Given the description of an element on the screen output the (x, y) to click on. 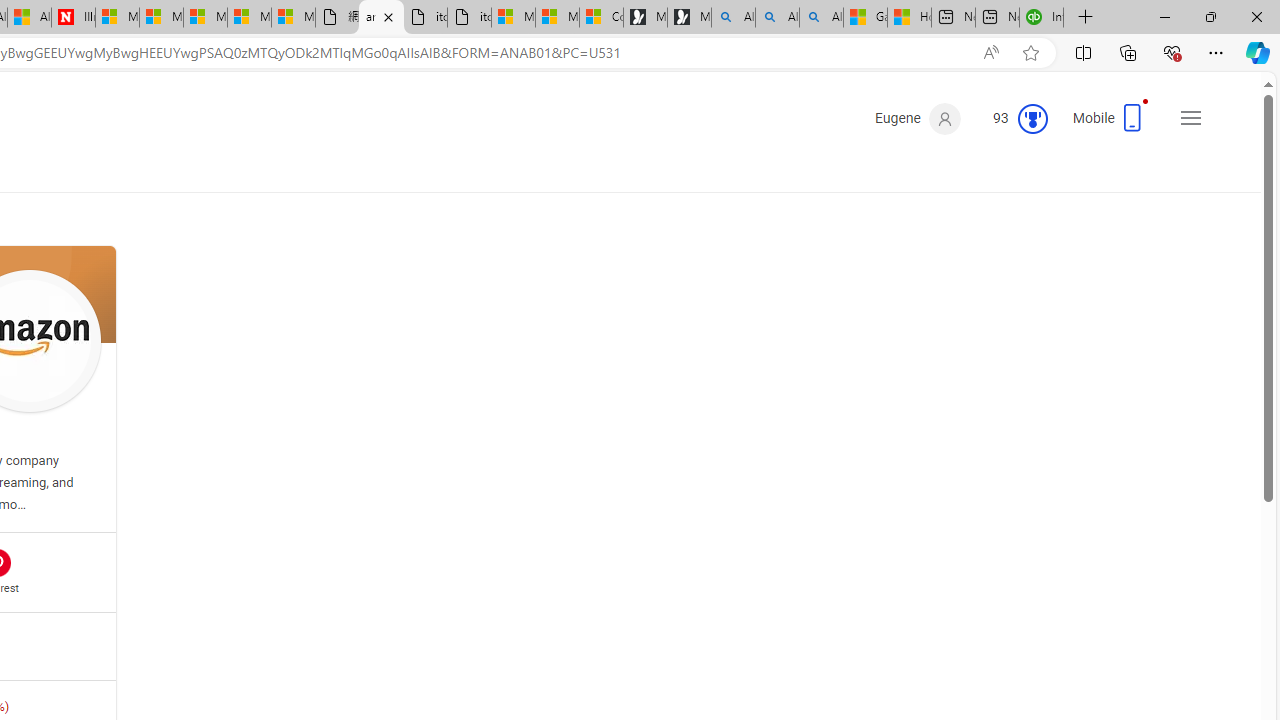
How to Use a TV as a Computer Monitor (909, 17)
Illness news & latest pictures from Newsweek.com (73, 17)
Consumer Health Data Privacy Policy (601, 17)
Class: medal-circled (1032, 118)
Intuit QuickBooks Online - Quickbooks (1041, 17)
Microsoft Start Gaming (689, 17)
Settings and quick links (1190, 117)
